Given the description of an element on the screen output the (x, y) to click on. 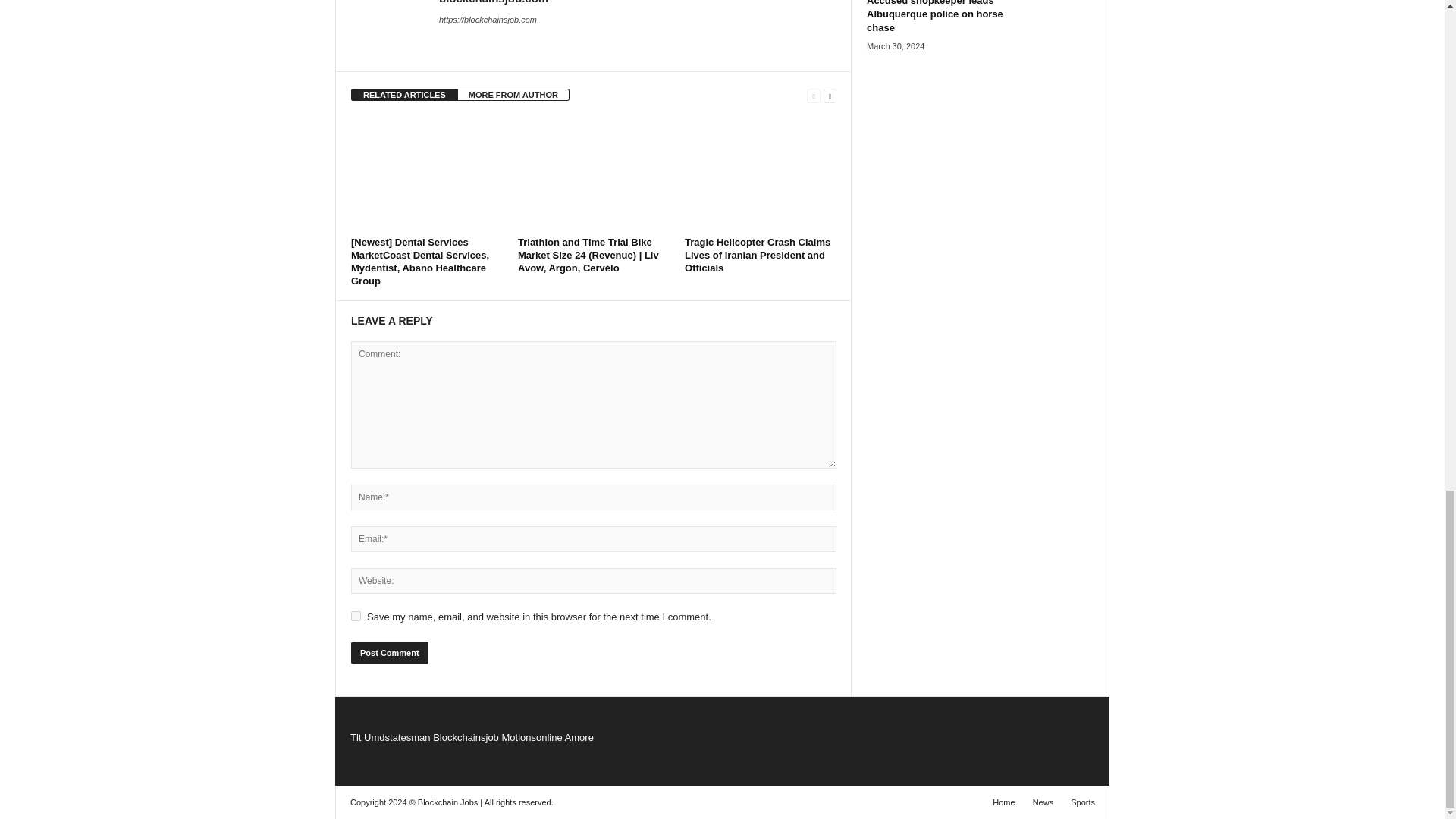
yes (355, 615)
RELATED ARTICLES (404, 94)
MORE FROM AUTHOR (513, 94)
blockchainsjob.com (493, 2)
Post Comment (389, 652)
